Given the description of an element on the screen output the (x, y) to click on. 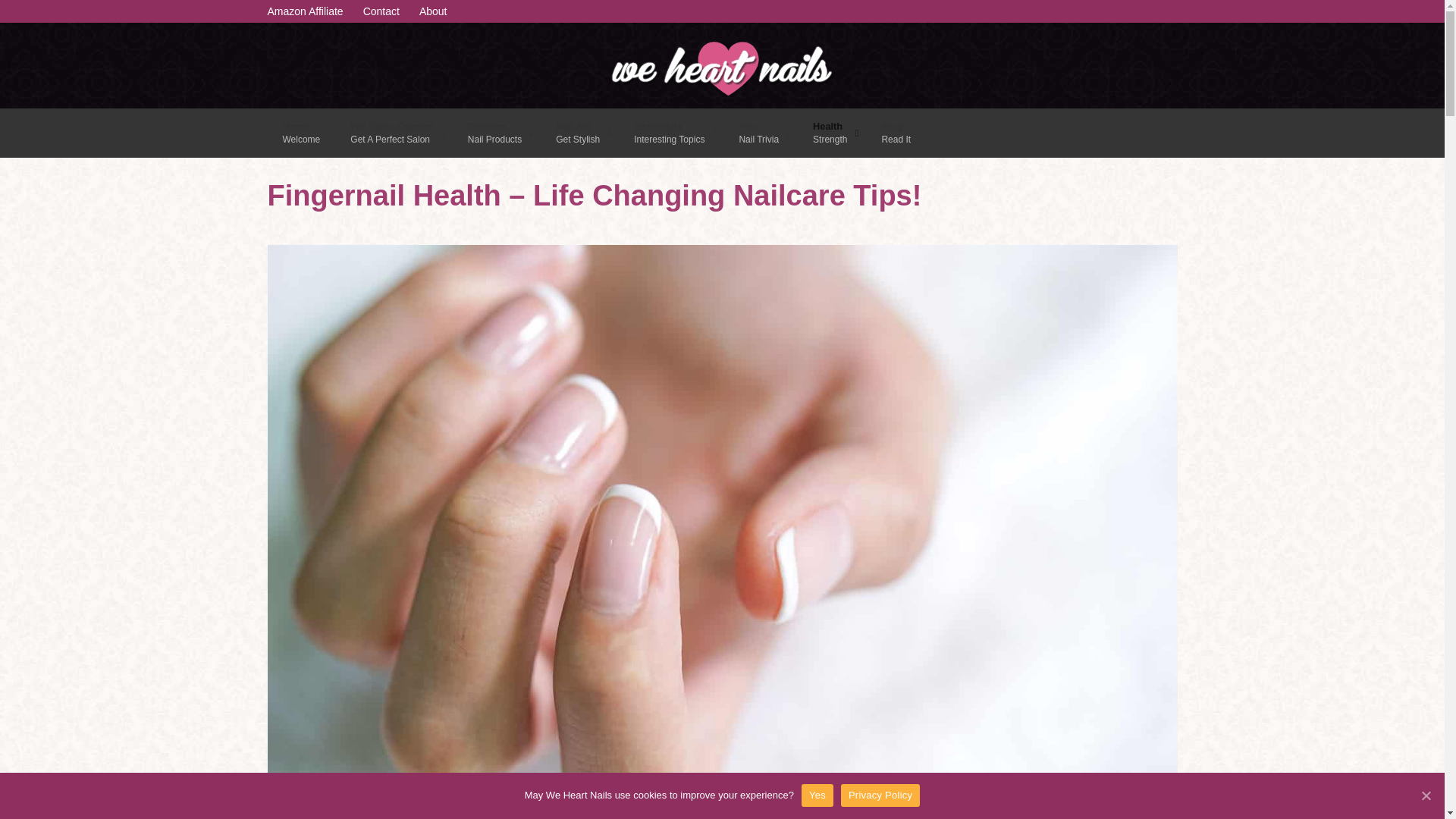
About (432, 10)
Amazon Affiliate (304, 10)
Contact (380, 10)
Useful Info (896, 133)
